Given the description of an element on the screen output the (x, y) to click on. 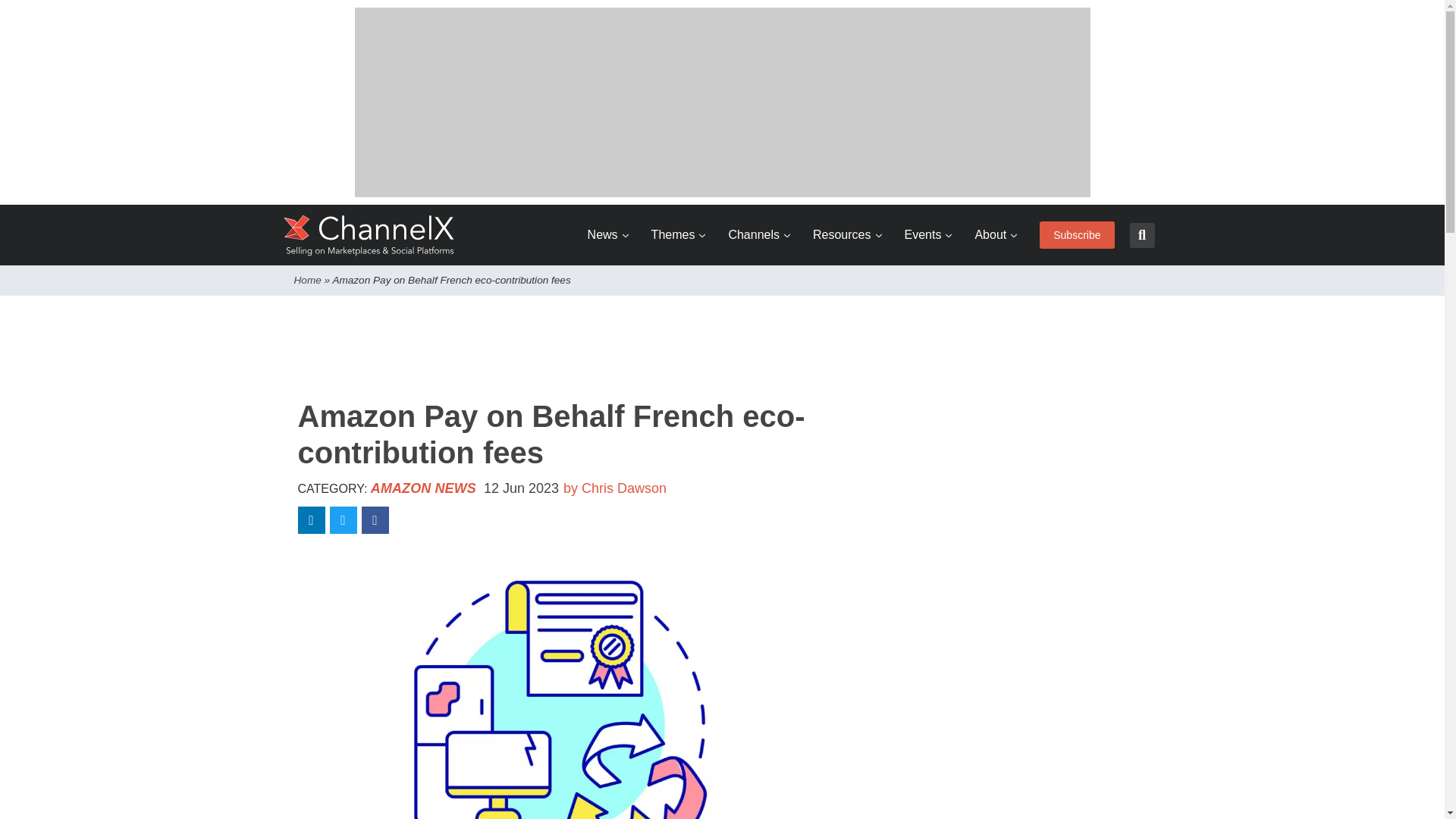
Channels (758, 234)
ChannelX Home Page (369, 234)
Resources (846, 234)
Themes (678, 234)
News (607, 234)
